Given the description of an element on the screen output the (x, y) to click on. 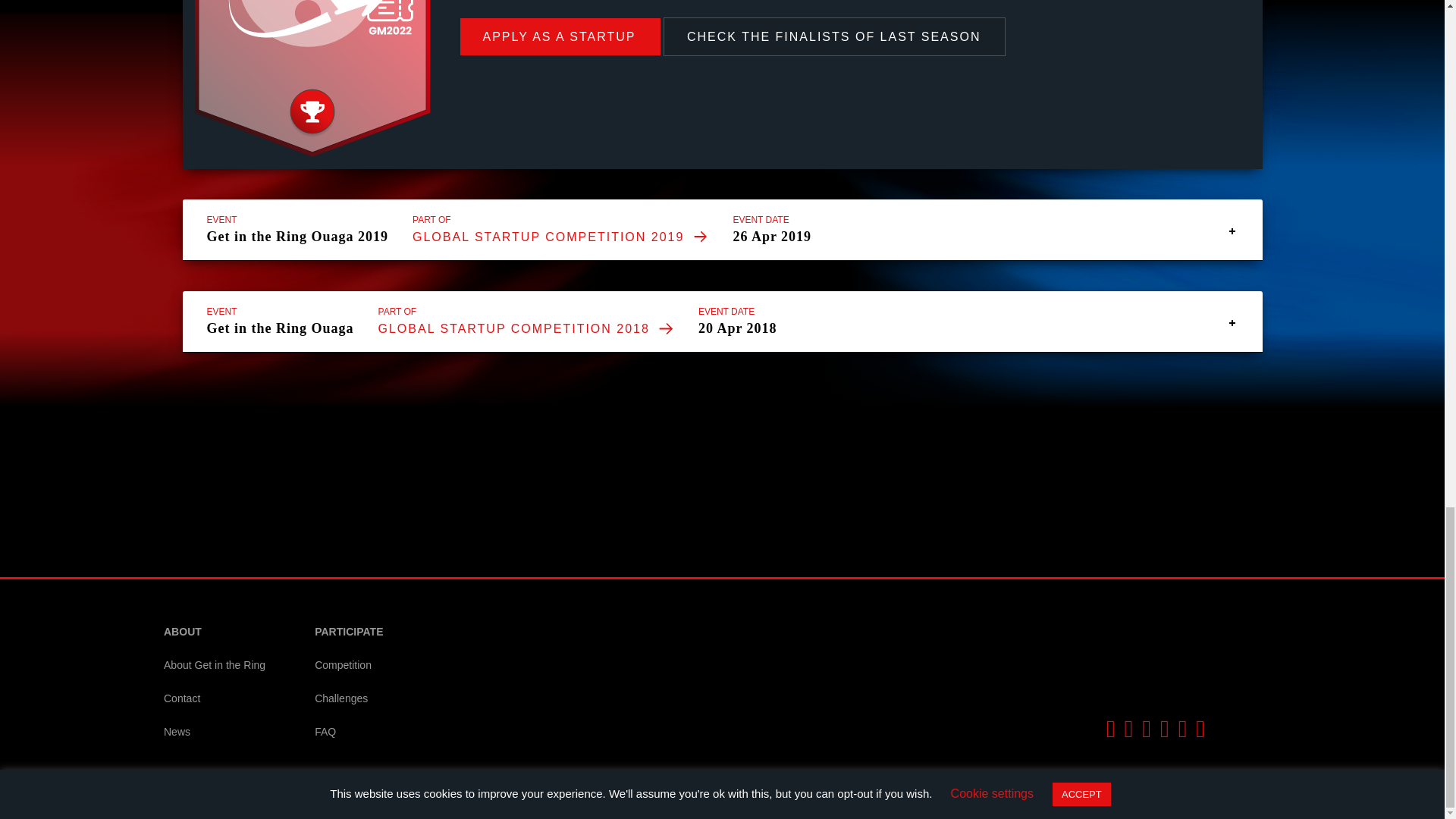
APPLY AS A STARTUP (559, 36)
GLOBAL STARTUP COMPETITION 2019 (559, 236)
CHECK THE FINALISTS OF LAST SEASON (834, 35)
